Given the description of an element on the screen output the (x, y) to click on. 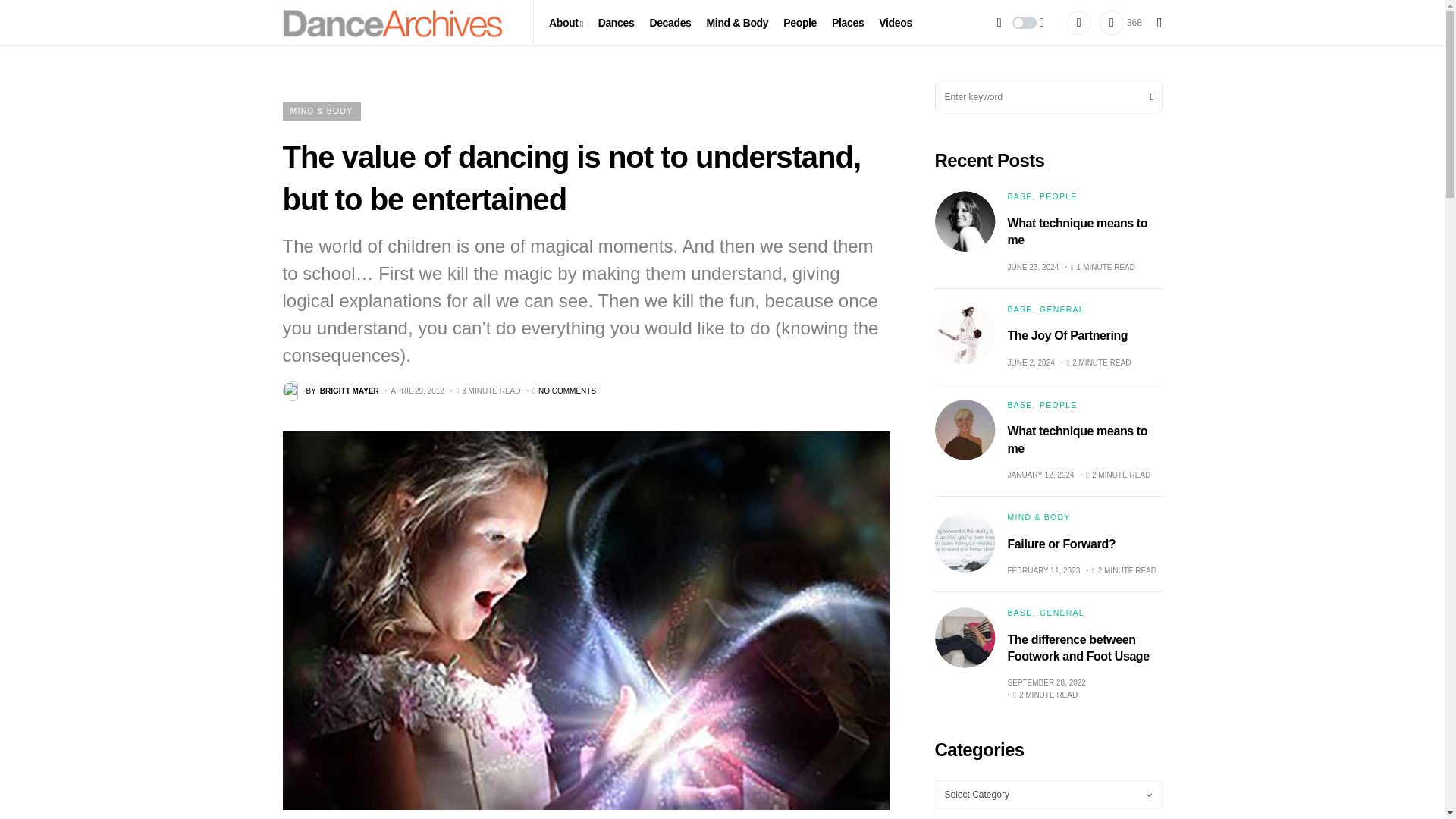
Decades (669, 22)
368 (1120, 22)
View all posts by Brigitt Mayer (330, 391)
